Given the description of an element on the screen output the (x, y) to click on. 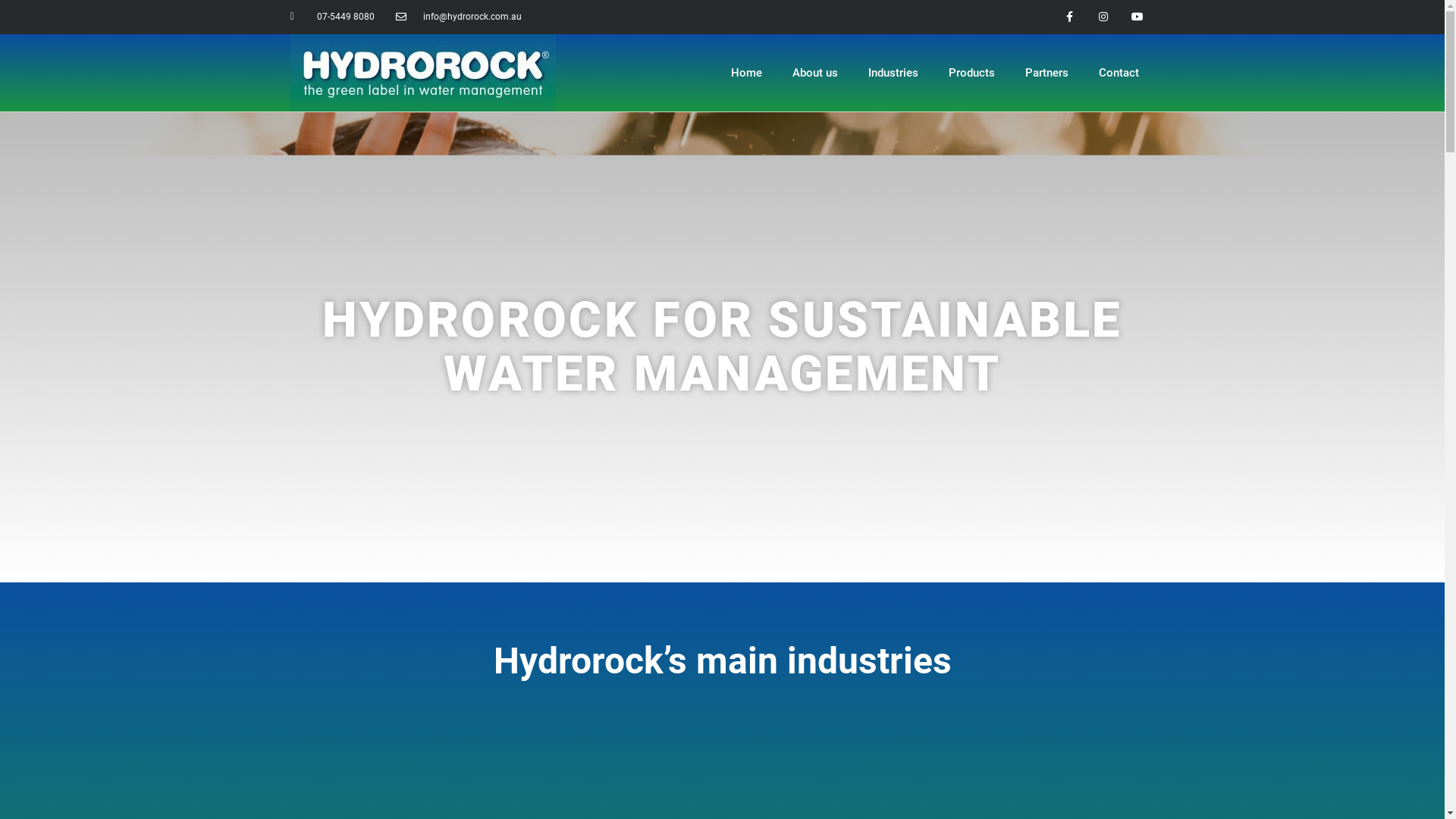
Products Element type: text (973, 72)
Contact Element type: text (1118, 72)
Industries Element type: text (896, 72)
About us Element type: text (818, 72)
Partners Element type: text (1046, 72)
Hydrorock Logo NEW Element type: hover (422, 72)
Home Element type: text (751, 72)
